Given the description of an element on the screen output the (x, y) to click on. 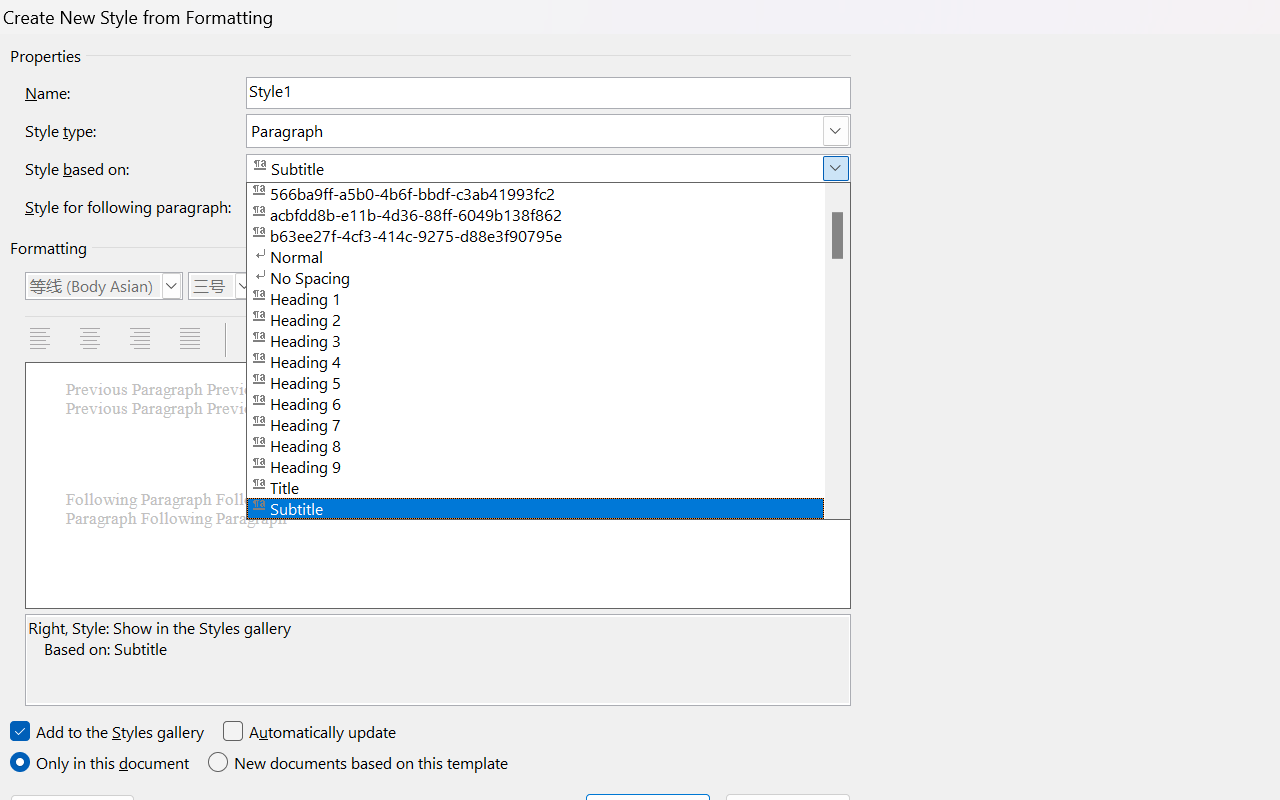
Decrease Indent (564, 339)
Decrease Paragraph Spacing (476, 339)
Italic (325, 285)
Bold (285, 285)
Increase Indent (615, 339)
No Spacing (548, 276)
Heading 4 (548, 360)
Style based on: (548, 168)
Only in this document (101, 763)
Increase Paragraph Spacing (426, 339)
Heading 5 (548, 381)
Style properties: (438, 659)
New documents based on this template (359, 763)
